Given the description of an element on the screen output the (x, y) to click on. 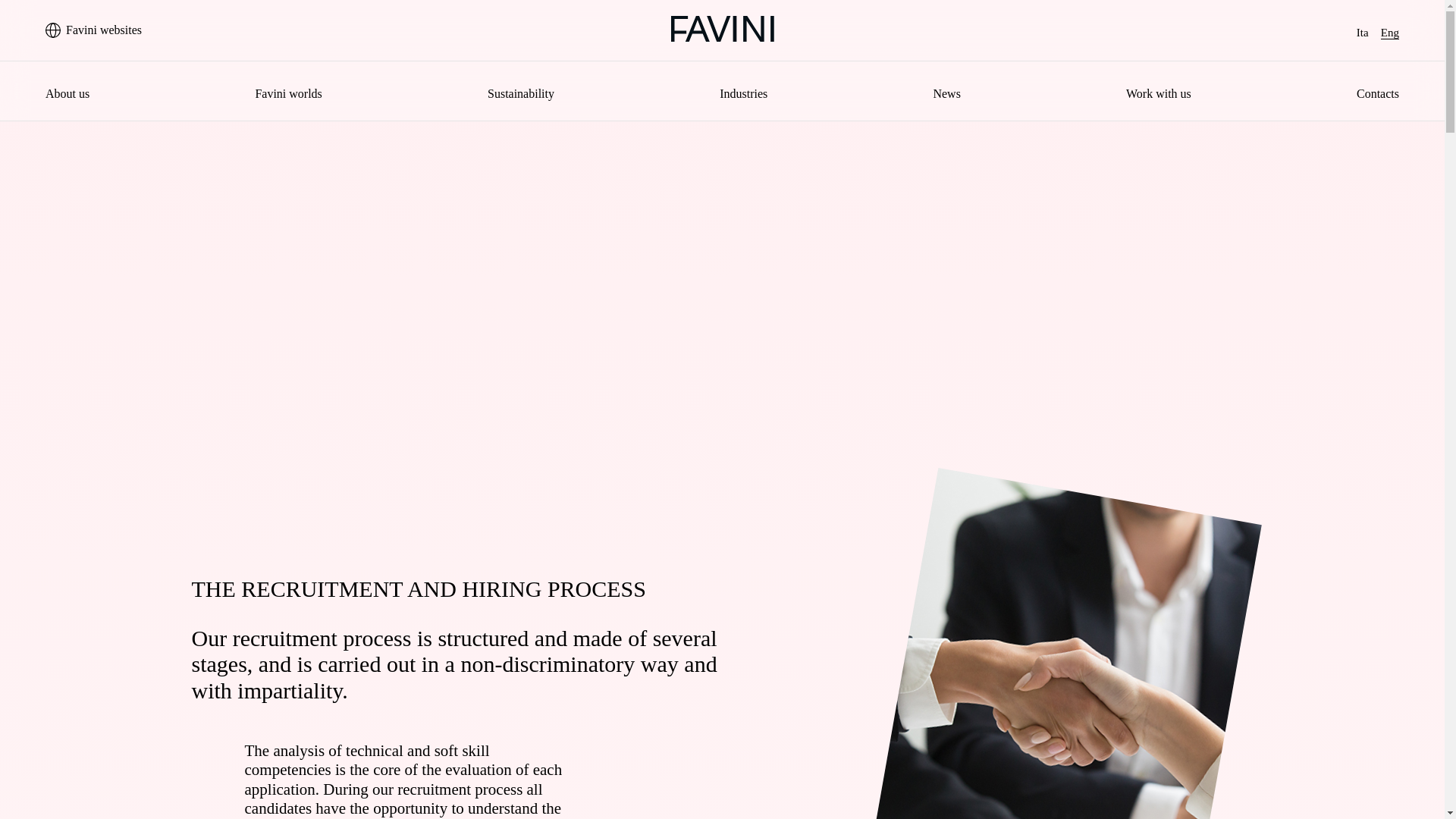
Work with us (1158, 92)
About us (66, 92)
Eng (1389, 32)
Favini websites (101, 29)
Industries (743, 92)
Sustainability (520, 92)
Ita (1362, 32)
Contacts (1377, 92)
Favini worlds (287, 92)
